Given the description of an element on the screen output the (x, y) to click on. 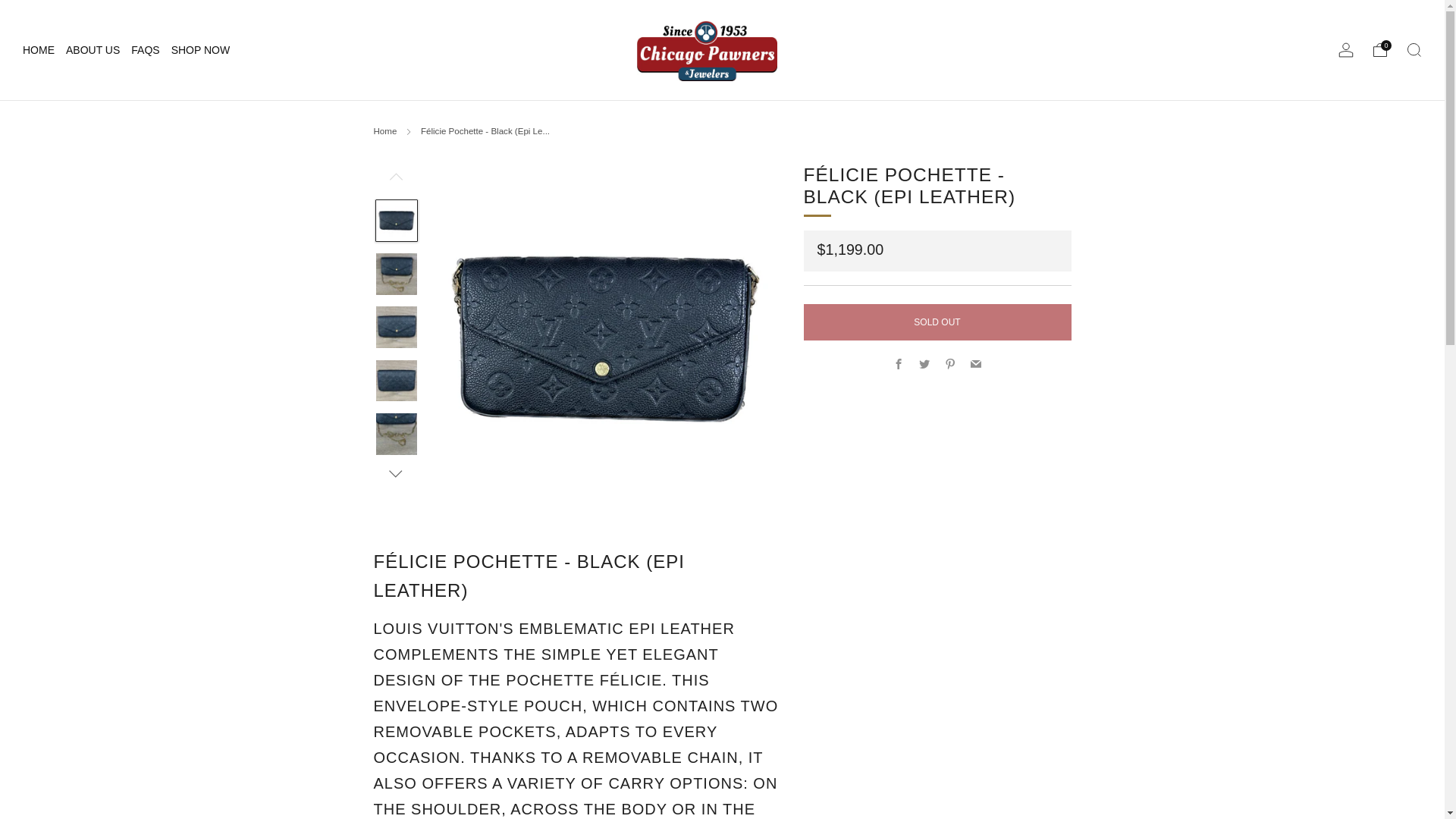
Home (384, 130)
FAQS (144, 49)
SHOP NOW (200, 49)
ABOUT US (92, 49)
0 (1380, 49)
HOME (39, 49)
